Given the description of an element on the screen output the (x, y) to click on. 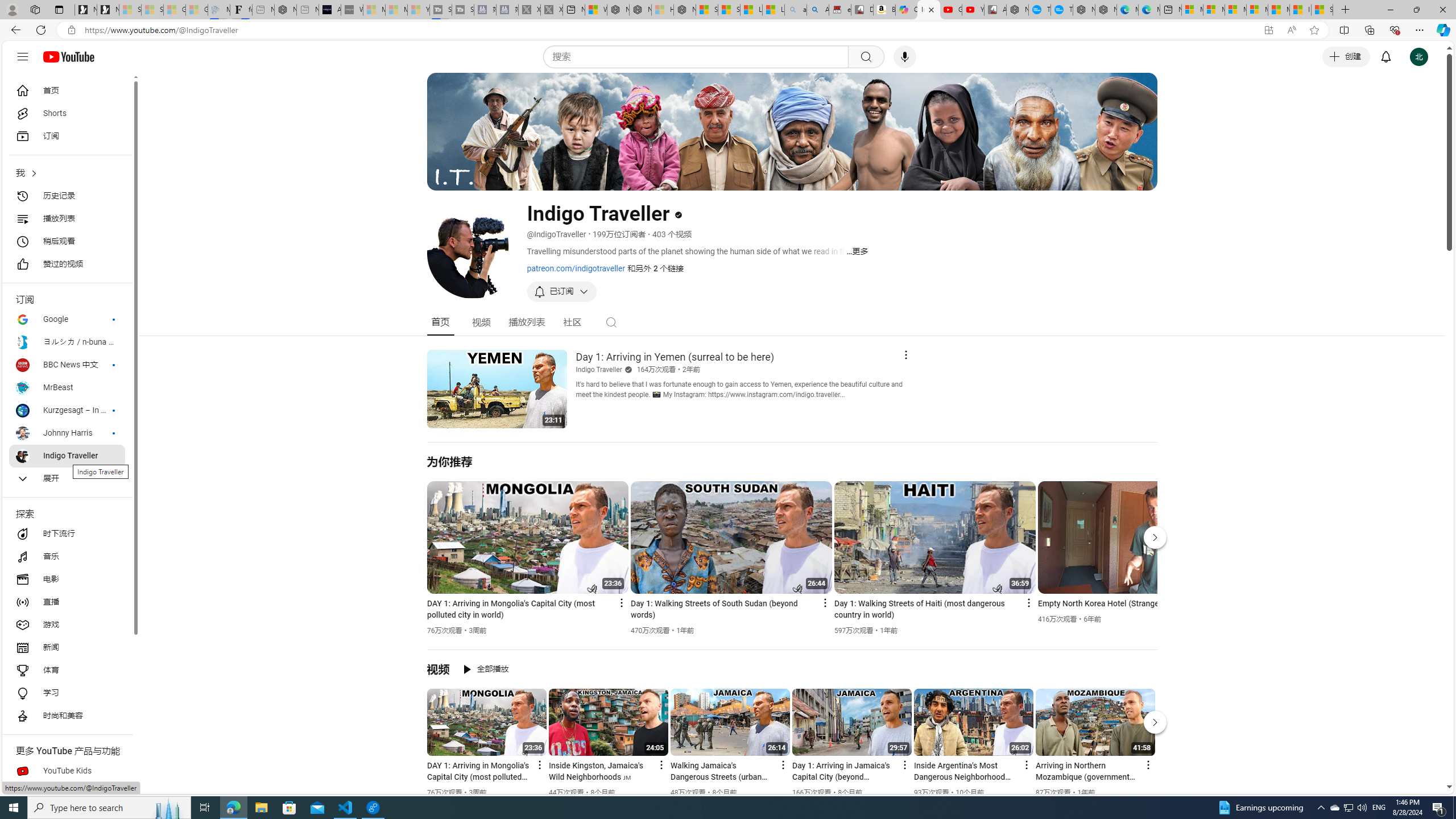
Copilot (907, 9)
App available. Install YouTube (1268, 29)
Newsletter Sign Up (107, 9)
patreon.com/indigotraveller (576, 268)
I Gained 20 Pounds of Muscle in 30 Days! | Watch (1300, 9)
